Given the description of an element on the screen output the (x, y) to click on. 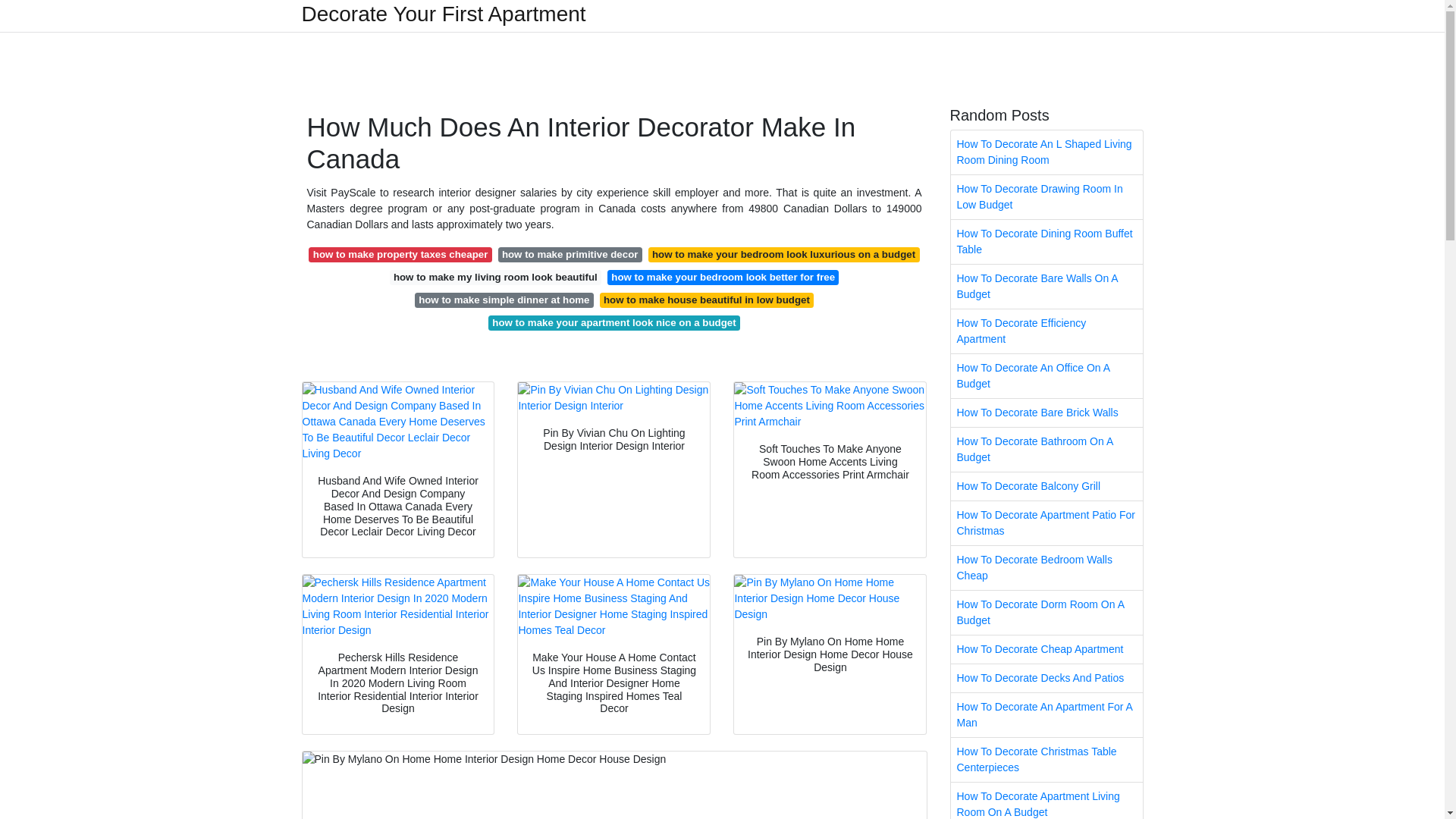
How To Decorate Bare Brick Walls (1046, 412)
How To Decorate Bare Walls On A Budget (1046, 286)
How To Decorate Bathroom On A Budget (1046, 449)
how to make simple dinner at home (504, 299)
How To Decorate Apartment Patio For Christmas (1046, 523)
how to make your apartment look nice on a budget (613, 322)
How To Decorate Dining Room Buffet Table (1046, 241)
how to make your bedroom look luxurious on a budget (783, 254)
How To Decorate An L Shaped Living Room Dining Room (1046, 152)
Decorate Your First Apartment (443, 13)
